Given the description of an element on the screen output the (x, y) to click on. 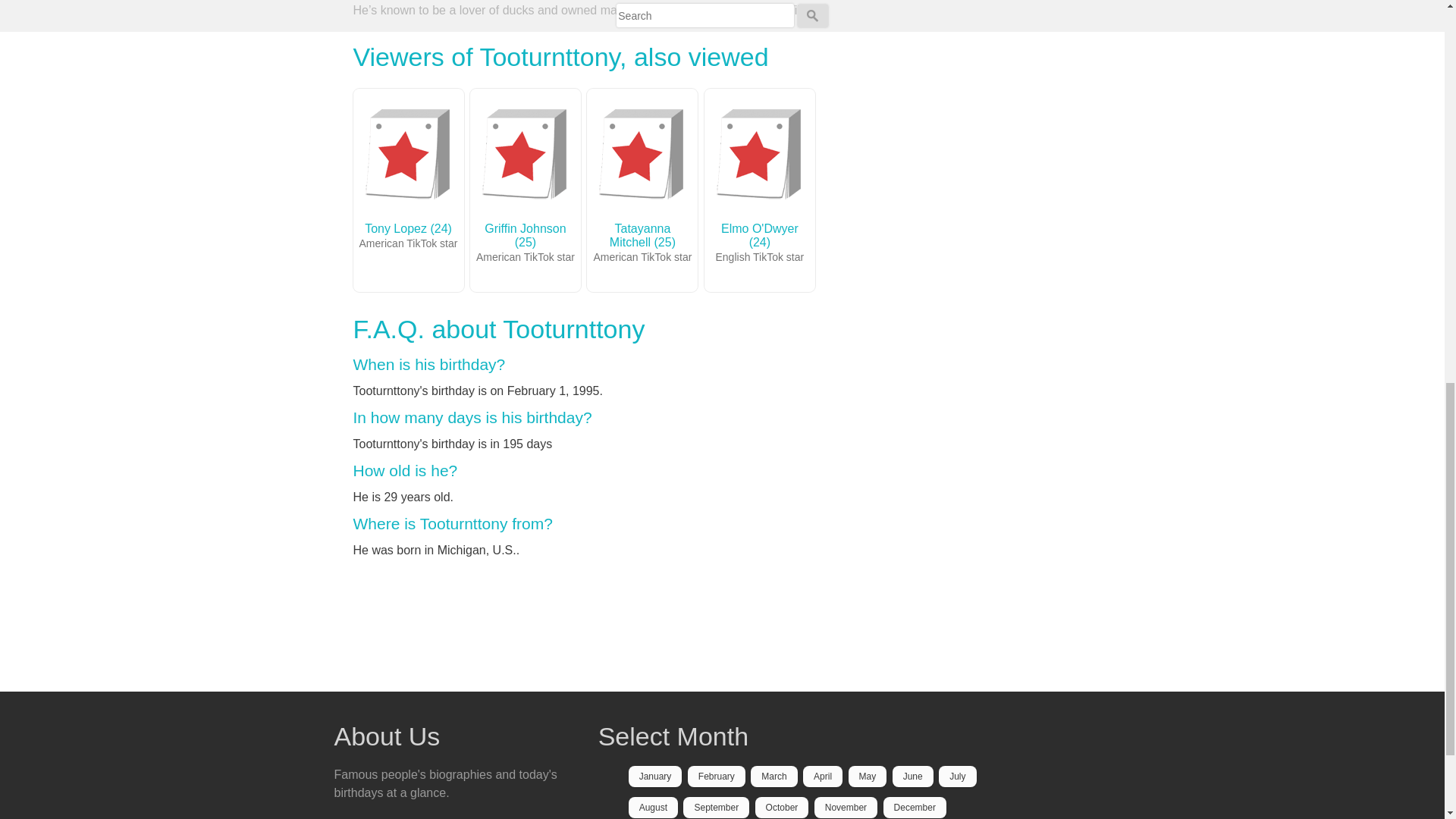
Griffin Johnson (525, 155)
Elmo O'Dwyer (759, 155)
Tatayanna Mitchell (641, 155)
Tony Lopez (408, 155)
